Given the description of an element on the screen output the (x, y) to click on. 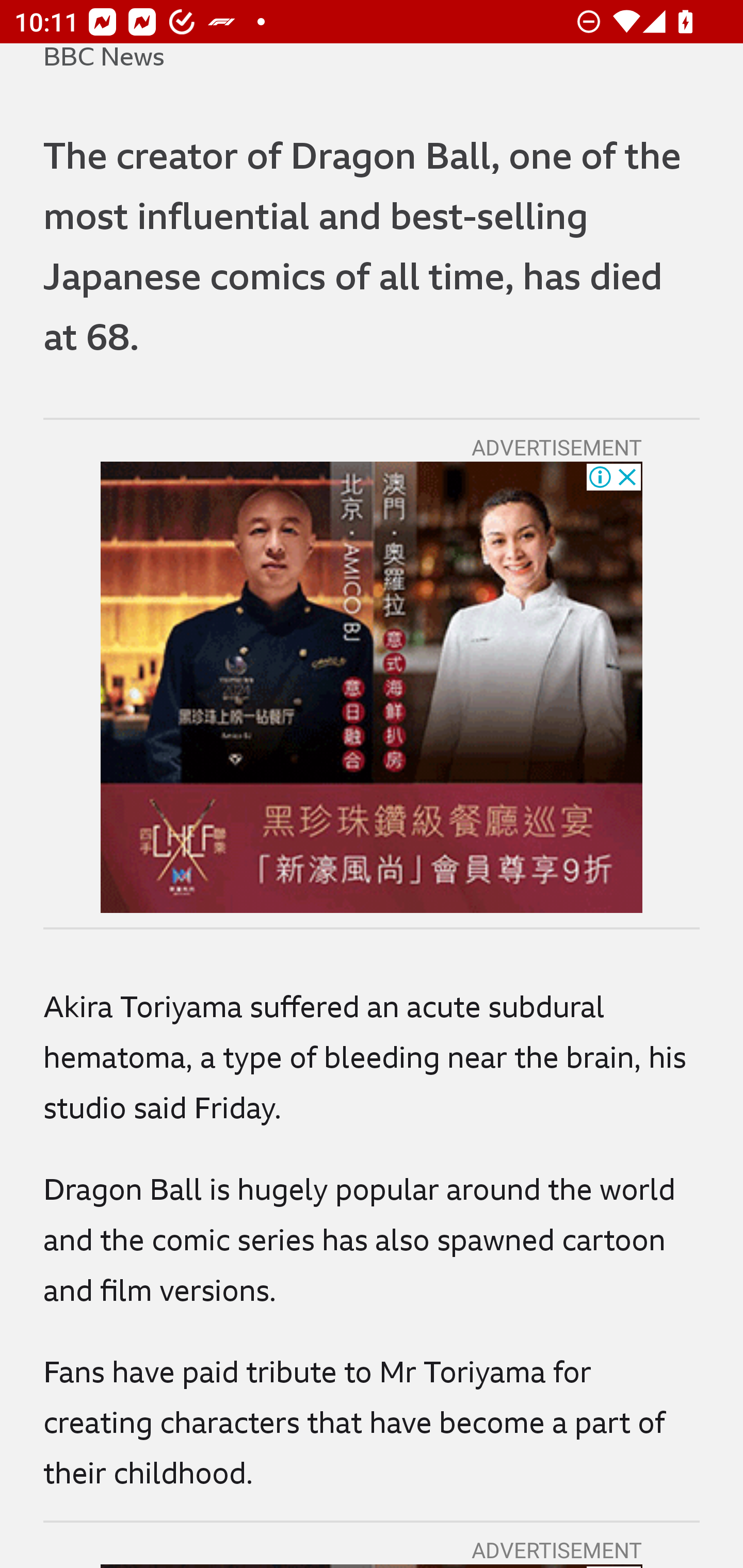
Advertisement (371, 687)
